Given the description of an element on the screen output the (x, y) to click on. 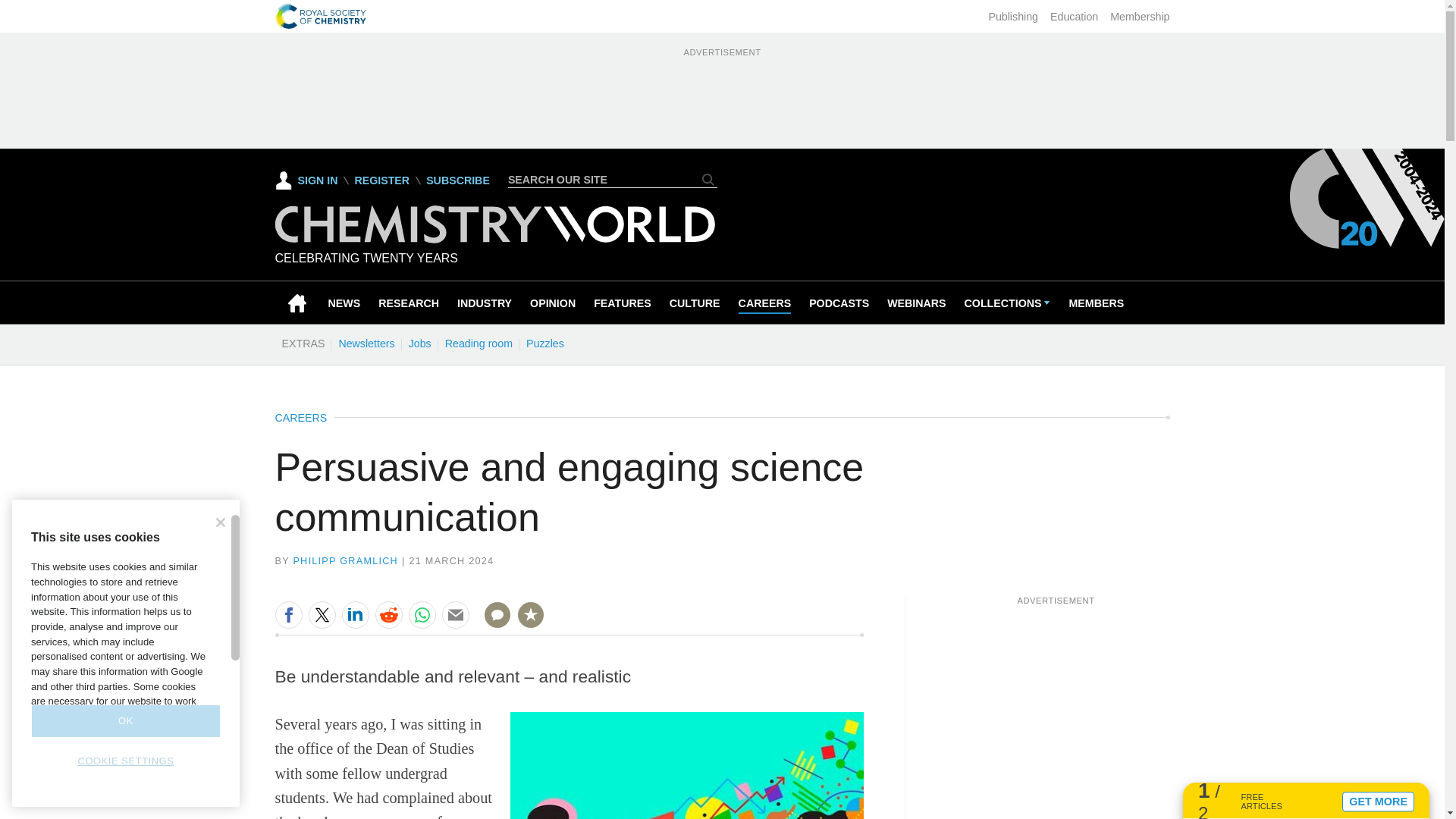
Membership (1139, 16)
Share this on Facebook (288, 614)
SUBSCRIBE (457, 180)
Reading room (478, 343)
Chemistry World (494, 238)
SEARCH (708, 179)
Share this on WhatsApp (421, 614)
Jobs (419, 343)
3rd party ad content (1055, 701)
Education (1073, 16)
3rd party ad content (721, 94)
Newsletters (366, 343)
Publishing (1013, 16)
Puzzles (544, 343)
NO COMMENTS (492, 623)
